Given the description of an element on the screen output the (x, y) to click on. 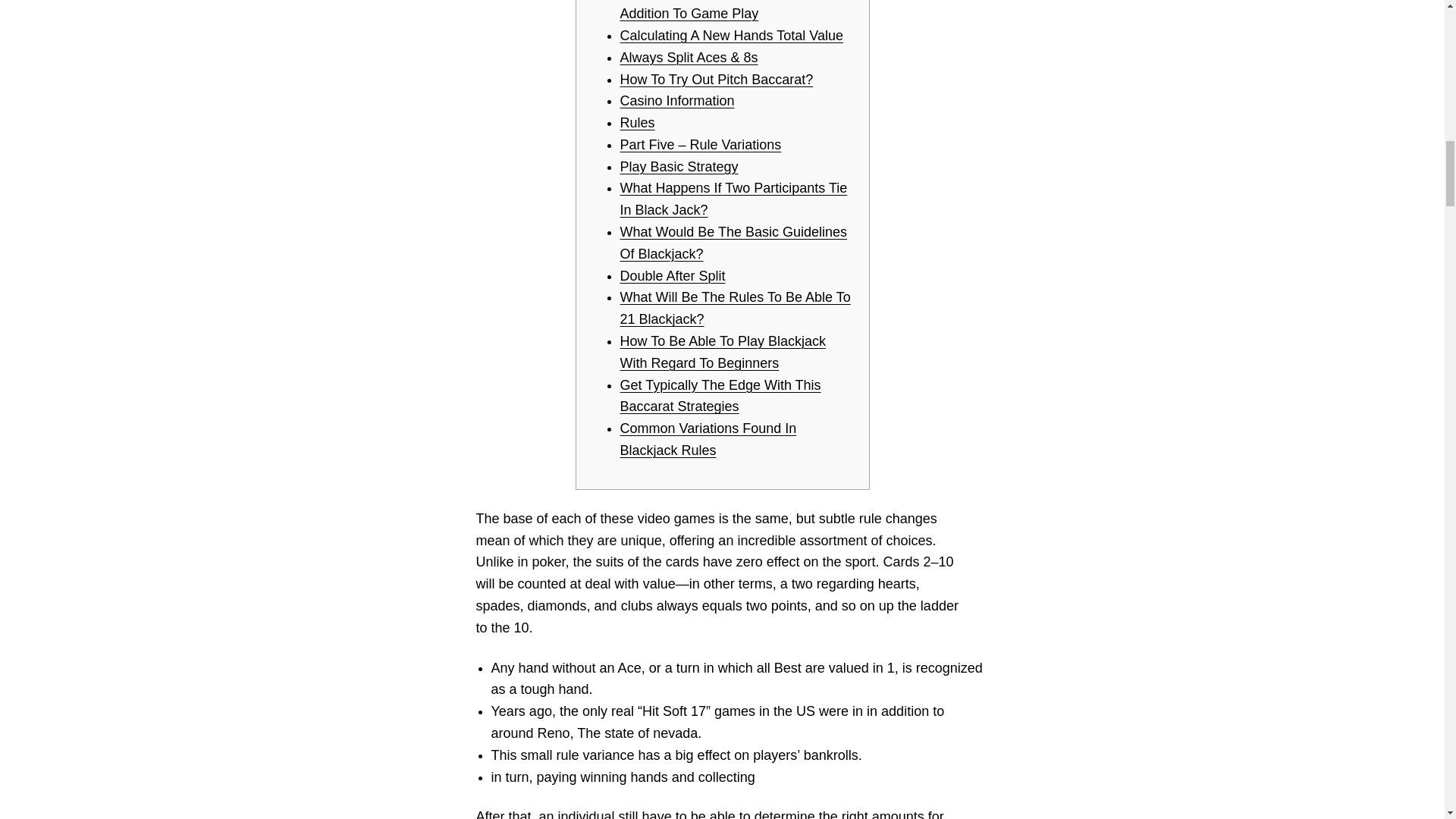
Casino Information (677, 100)
What Happens If Two Participants Tie In Black Jack? (733, 198)
How To Try Out Pitch Baccarat? (716, 78)
Rules (637, 122)
What Will Be The Rules To Be Able To 21 Blackjack? (735, 307)
Calculating A New Hands Total Value (732, 35)
How To Have Fun Blackjack: Rules In Addition To Game Play (733, 10)
Play Basic Strategy (679, 166)
Double After Split (672, 275)
What Would Be The Basic Guidelines Of Blackjack? (733, 242)
